Given the description of an element on the screen output the (x, y) to click on. 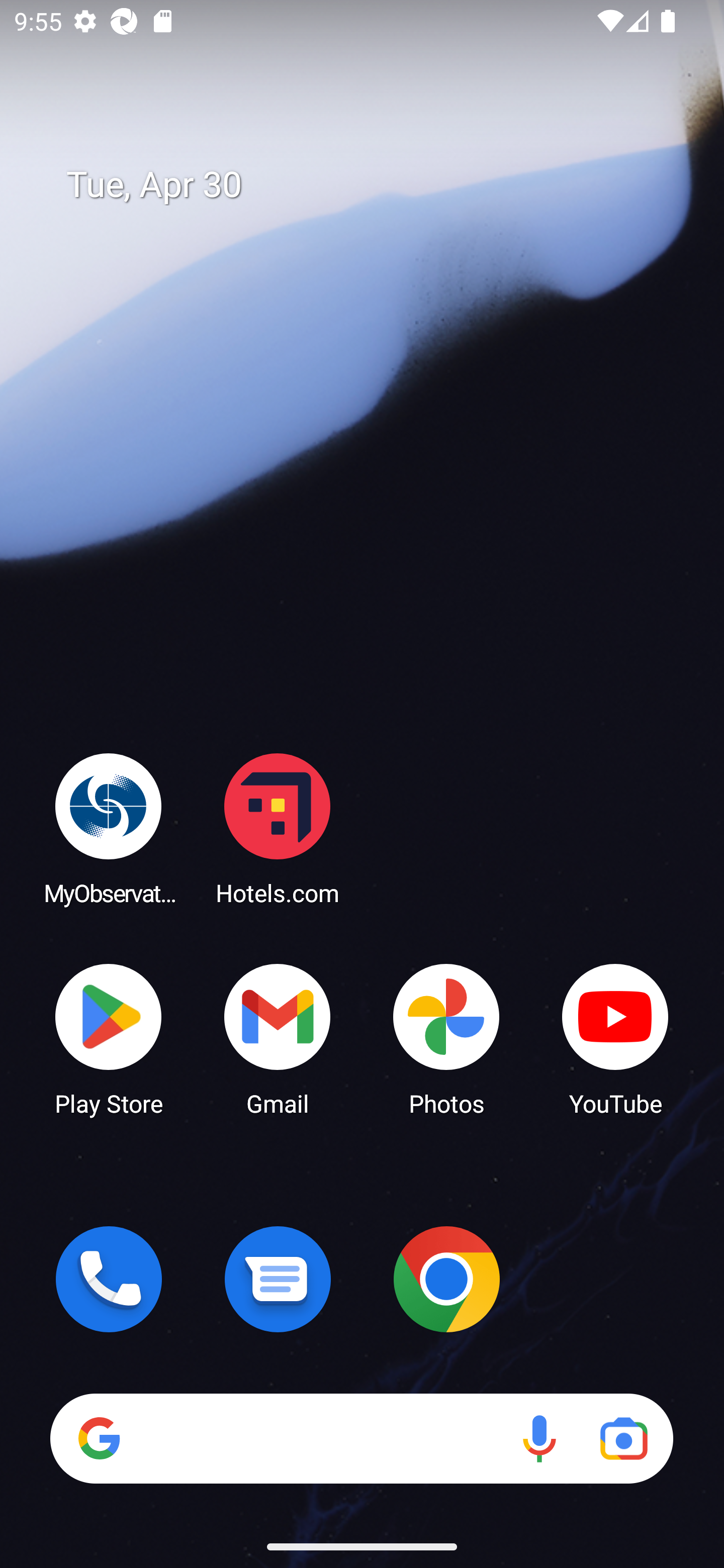
Tue, Apr 30 (375, 184)
MyObservatory (108, 828)
Hotels.com (277, 828)
Play Store (108, 1038)
Gmail (277, 1038)
Photos (445, 1038)
YouTube (615, 1038)
Phone (108, 1279)
Messages (277, 1279)
Chrome (446, 1279)
Voice search (539, 1438)
Google Lens (623, 1438)
